Given the description of an element on the screen output the (x, y) to click on. 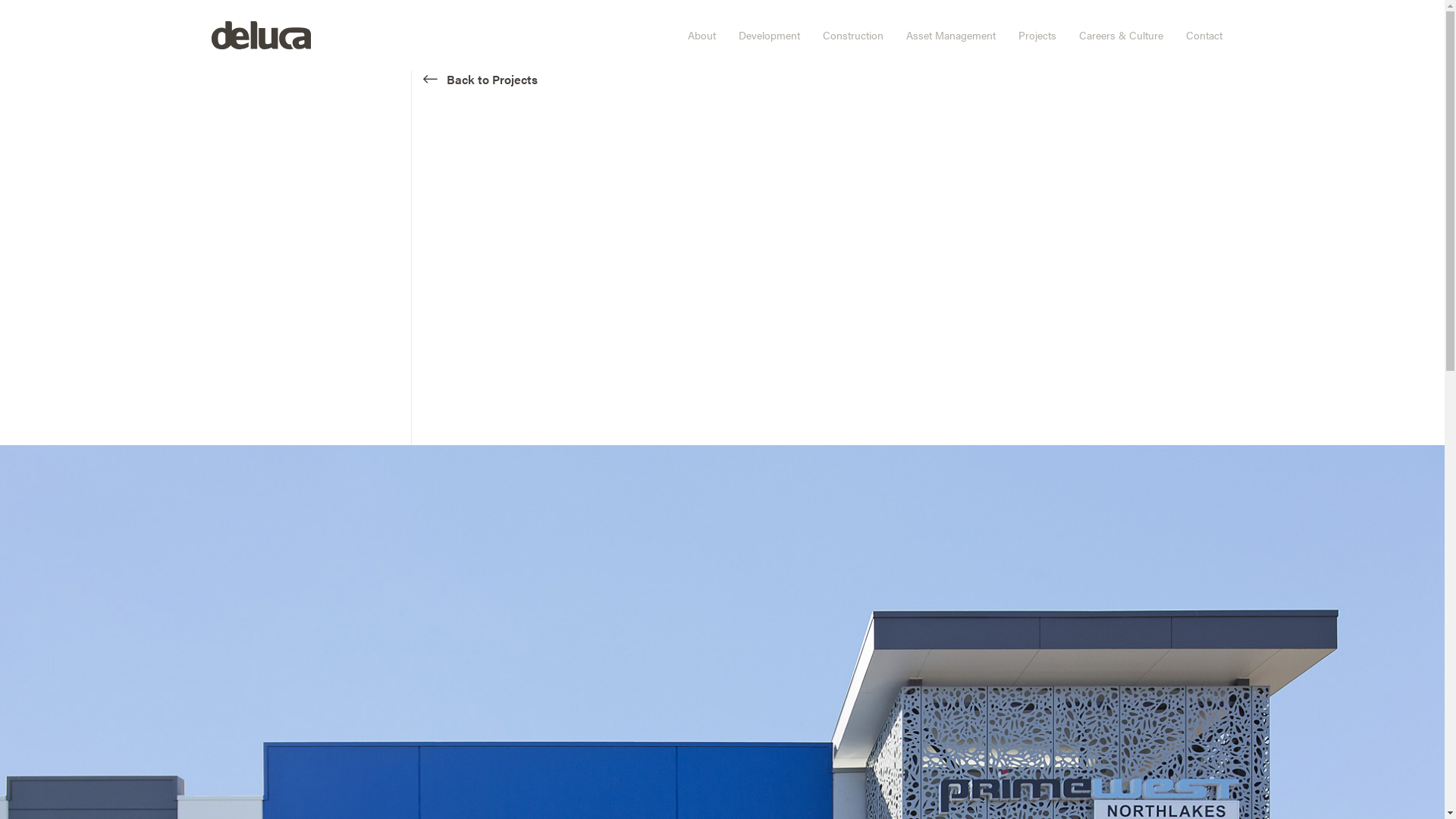
Contact Element type: text (1203, 35)
Careers & Culture Element type: text (1120, 35)
About Element type: text (701, 35)
Projects Element type: text (1037, 35)
Back to Projects Element type: text (480, 78)
Construction Element type: text (852, 35)
Development Element type: text (768, 35)
Asset Management Element type: text (950, 35)
